Given the description of an element on the screen output the (x, y) to click on. 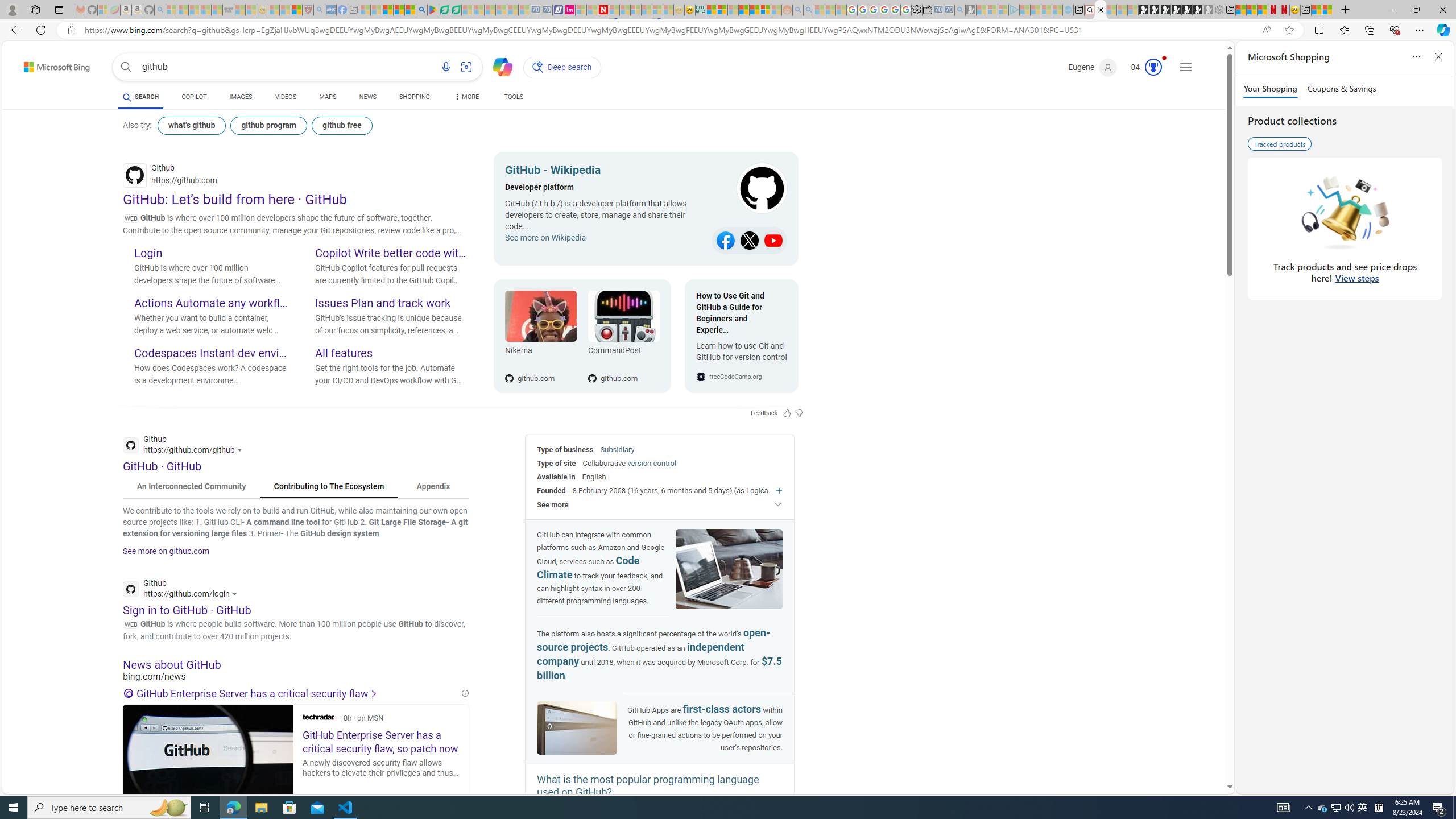
Local - MSN (296, 9)
Issues Plan and track work (391, 304)
GitHub Enterprise Server has a critical security flaw (291, 693)
Kinda Frugal - MSN (754, 9)
